Given the description of an element on the screen output the (x, y) to click on. 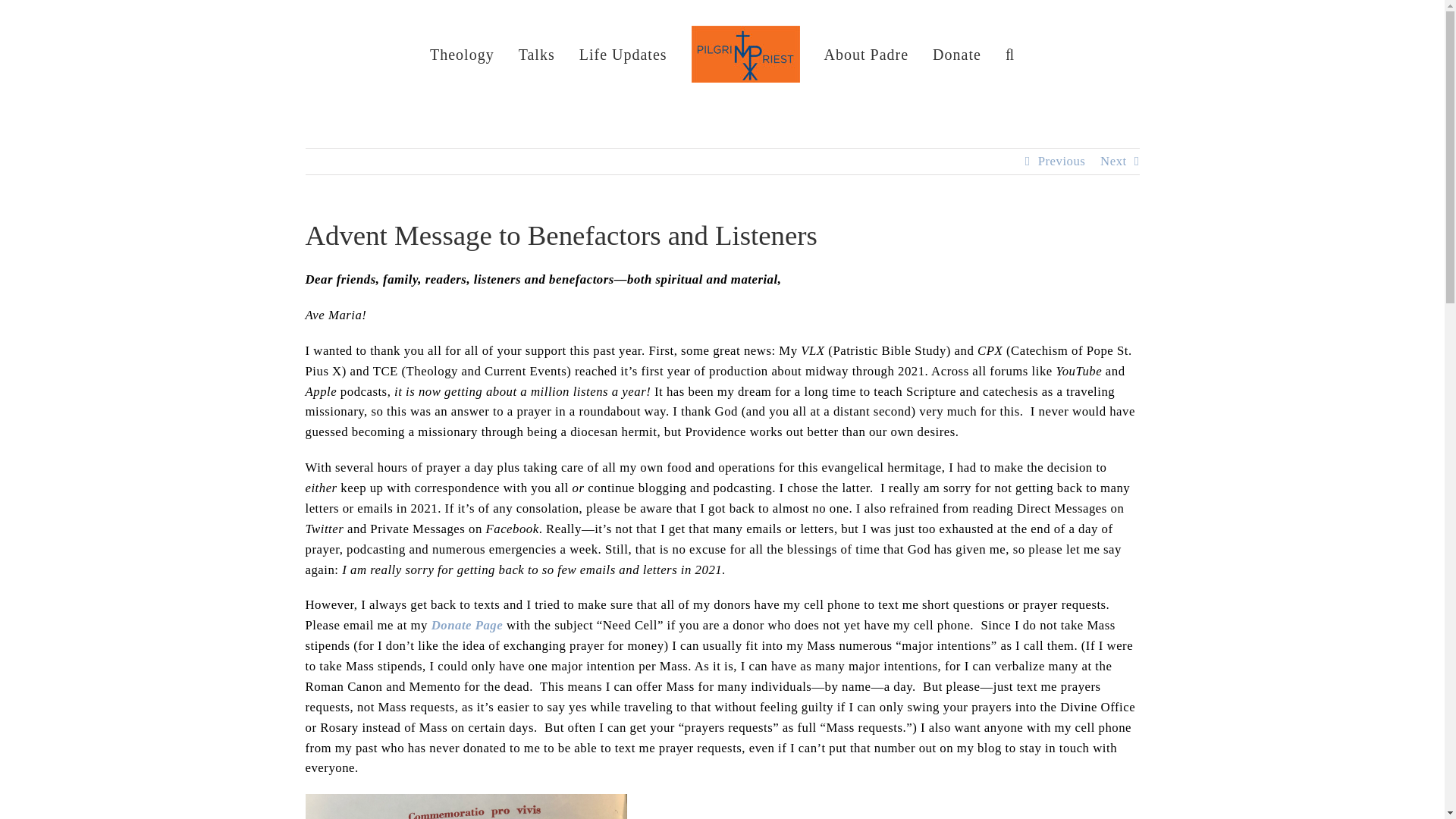
Previous (1062, 161)
Next (1113, 161)
Donate Page (466, 625)
